Given the description of an element on the screen output the (x, y) to click on. 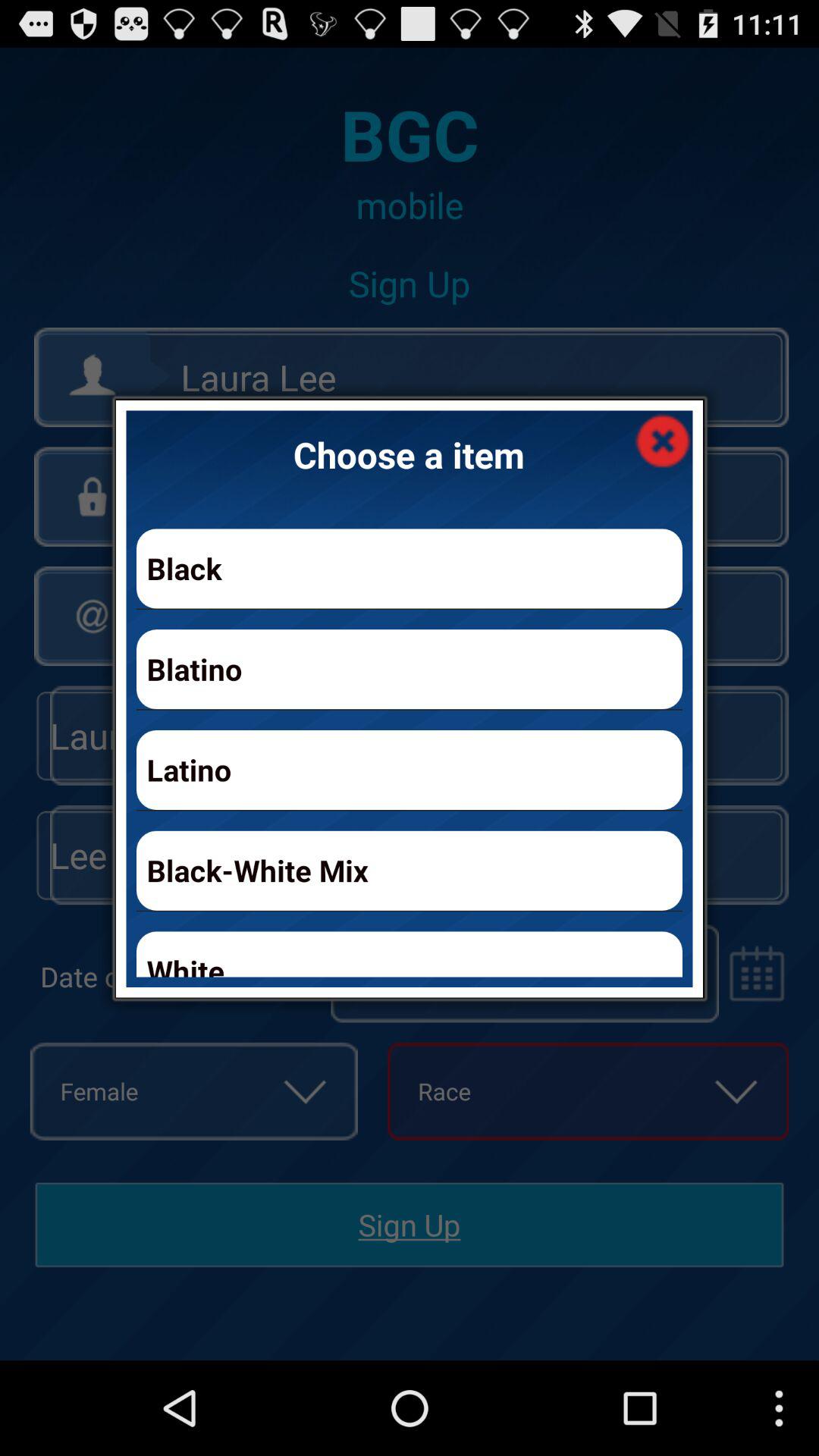
jump until the blatino item (409, 669)
